Given the description of an element on the screen output the (x, y) to click on. 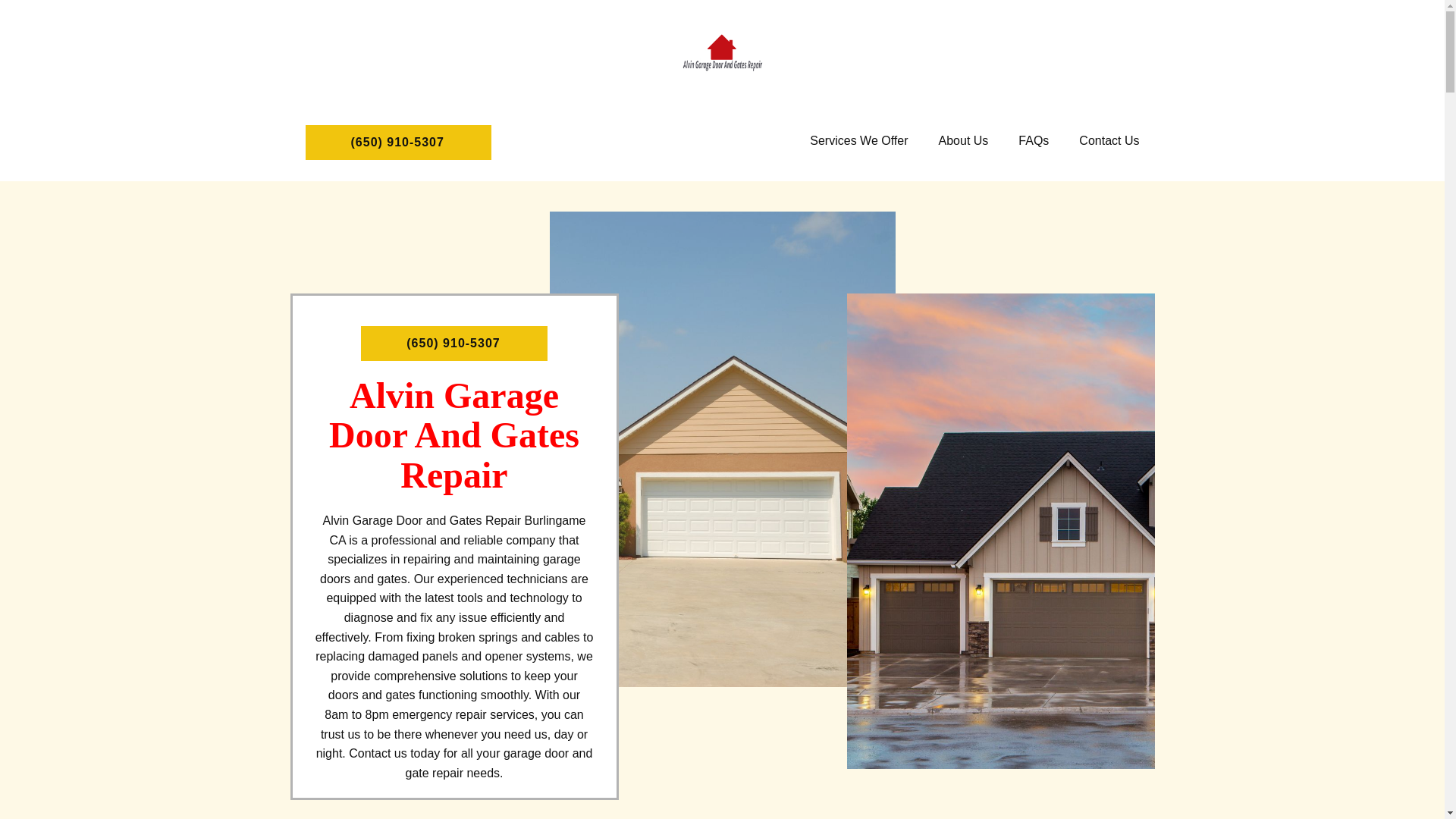
Services We Offer (963, 140)
FAQs (1033, 140)
FAQs (1109, 140)
Alvin Garage Door And Gates (722, 51)
Services We Offer (858, 140)
Contact Us (1109, 140)
About Us (963, 140)
